Given the description of an element on the screen output the (x, y) to click on. 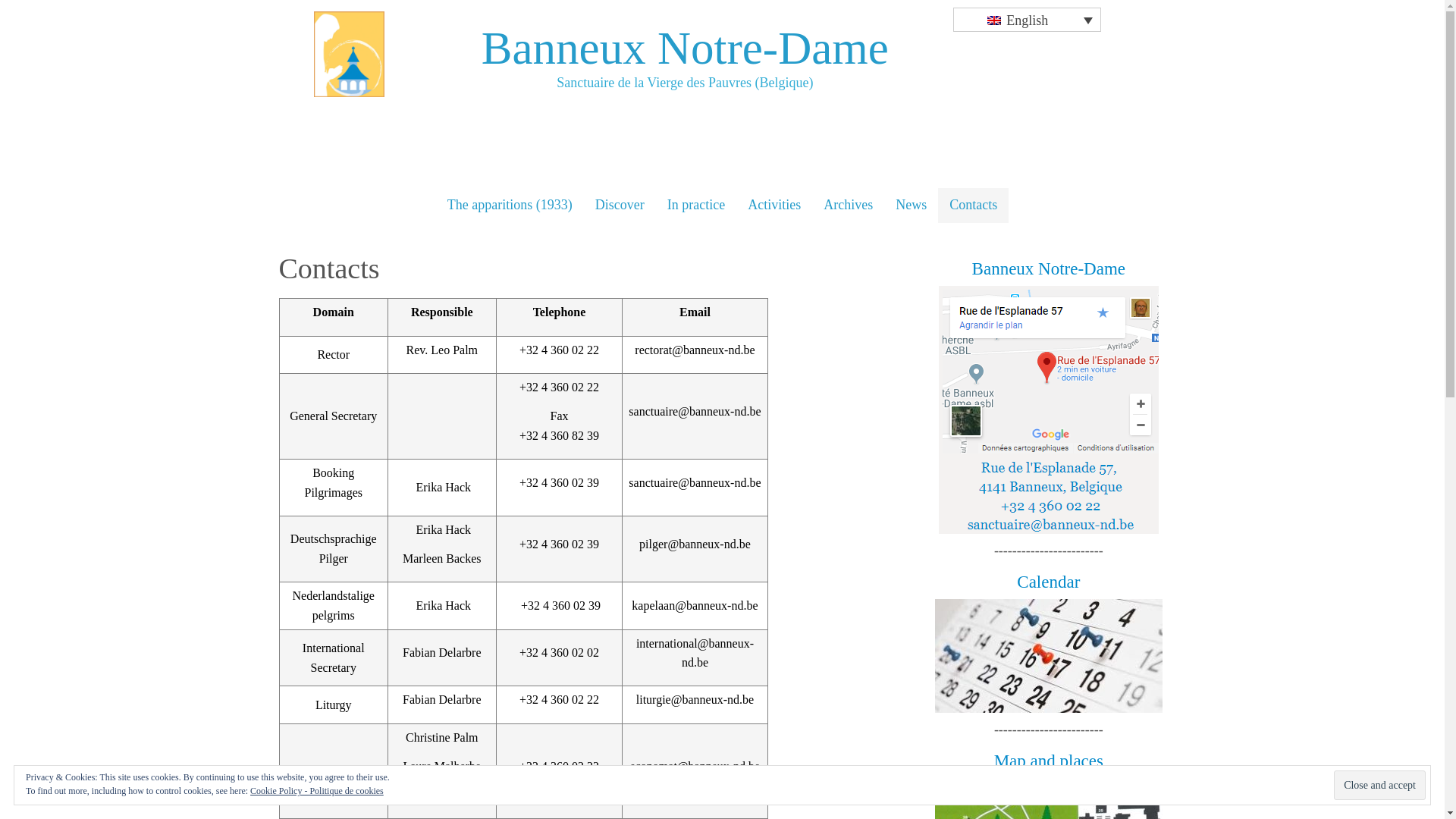
Activities Element type: text (774, 205)
The apparitions (1933) Element type: text (509, 205)
Archives Element type: text (848, 205)
Cookie Policy - Politique de cookies Element type: text (316, 790)
Close and accept Element type: text (1379, 785)
In practice Element type: text (695, 205)
News Element type: text (911, 205)
Contacts Element type: text (973, 205)
Banneux Notre-Dame Element type: text (684, 47)
English Element type: text (1027, 19)
Discover Element type: text (619, 205)
